Given the description of an element on the screen output the (x, y) to click on. 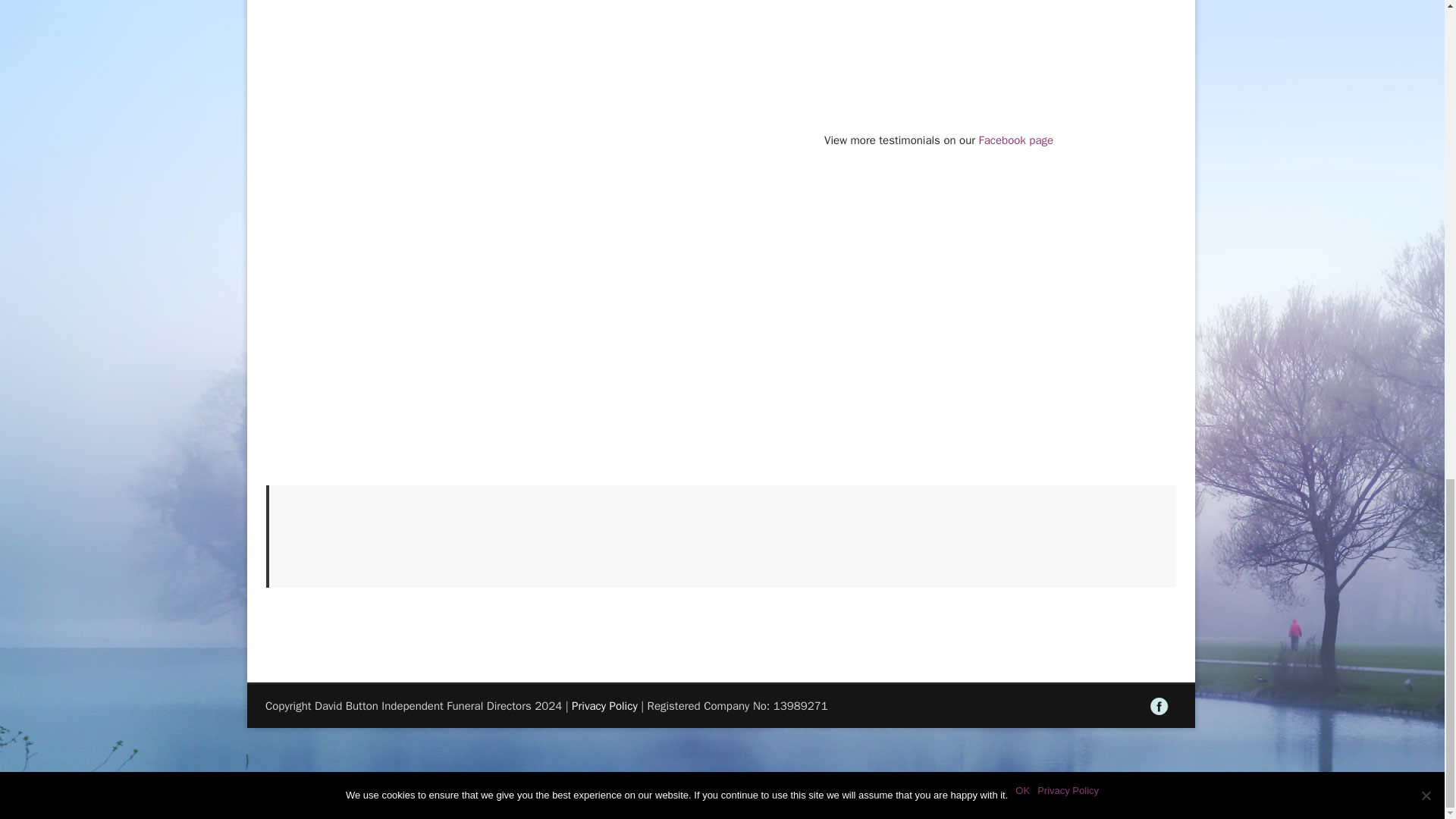
Facebook (1159, 706)
Privacy Policy (604, 705)
Facebook page (1016, 140)
